Given the description of an element on the screen output the (x, y) to click on. 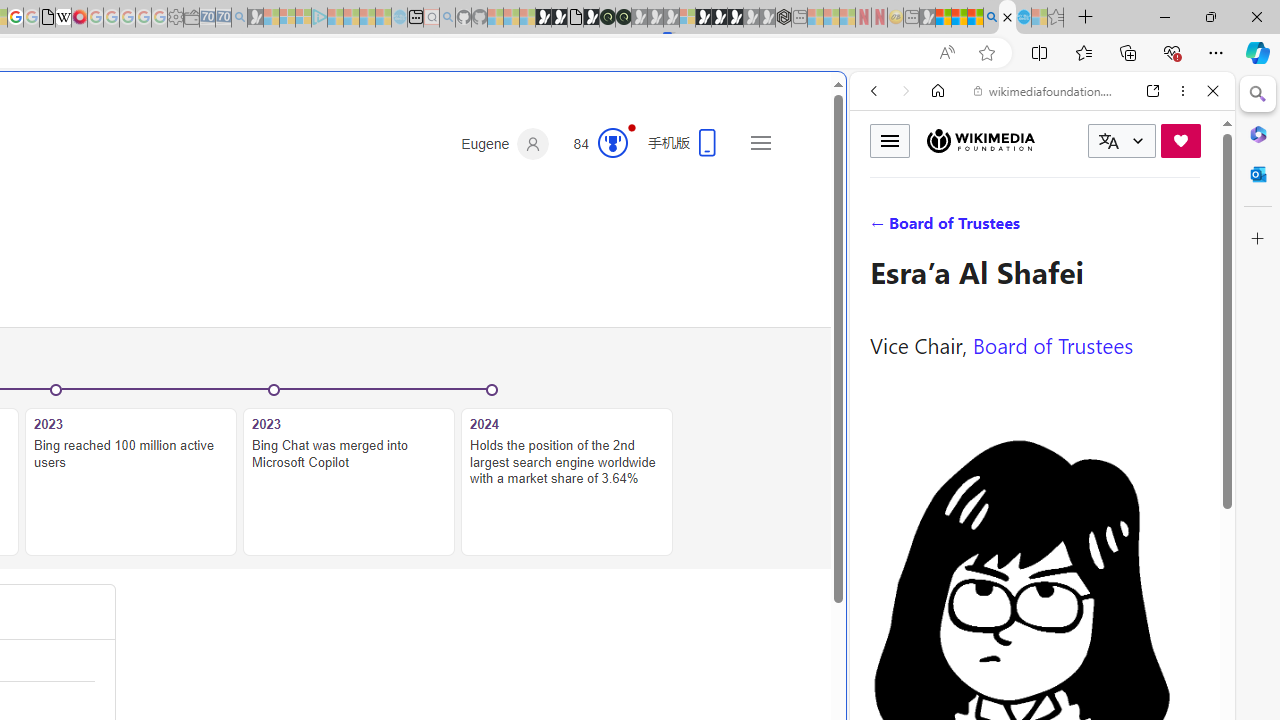
Search Filter, IMAGES (939, 228)
Animation (632, 127)
Preferences (1189, 228)
